Given the description of an element on the screen output the (x, y) to click on. 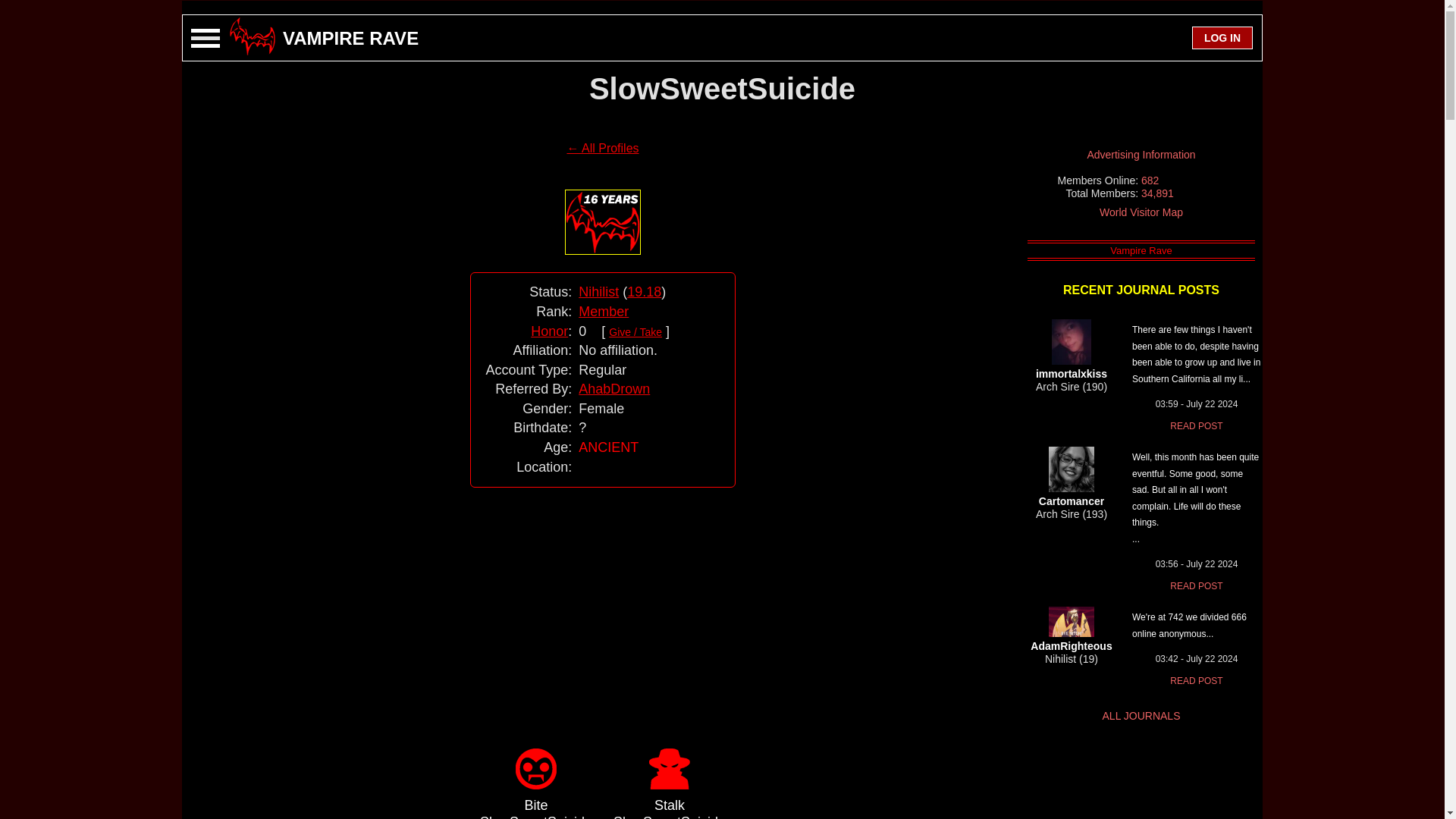
Advertisement (602, 594)
 LOG IN  (1222, 37)
VAMPIRE RAVE (350, 37)
